Given the description of an element on the screen output the (x, y) to click on. 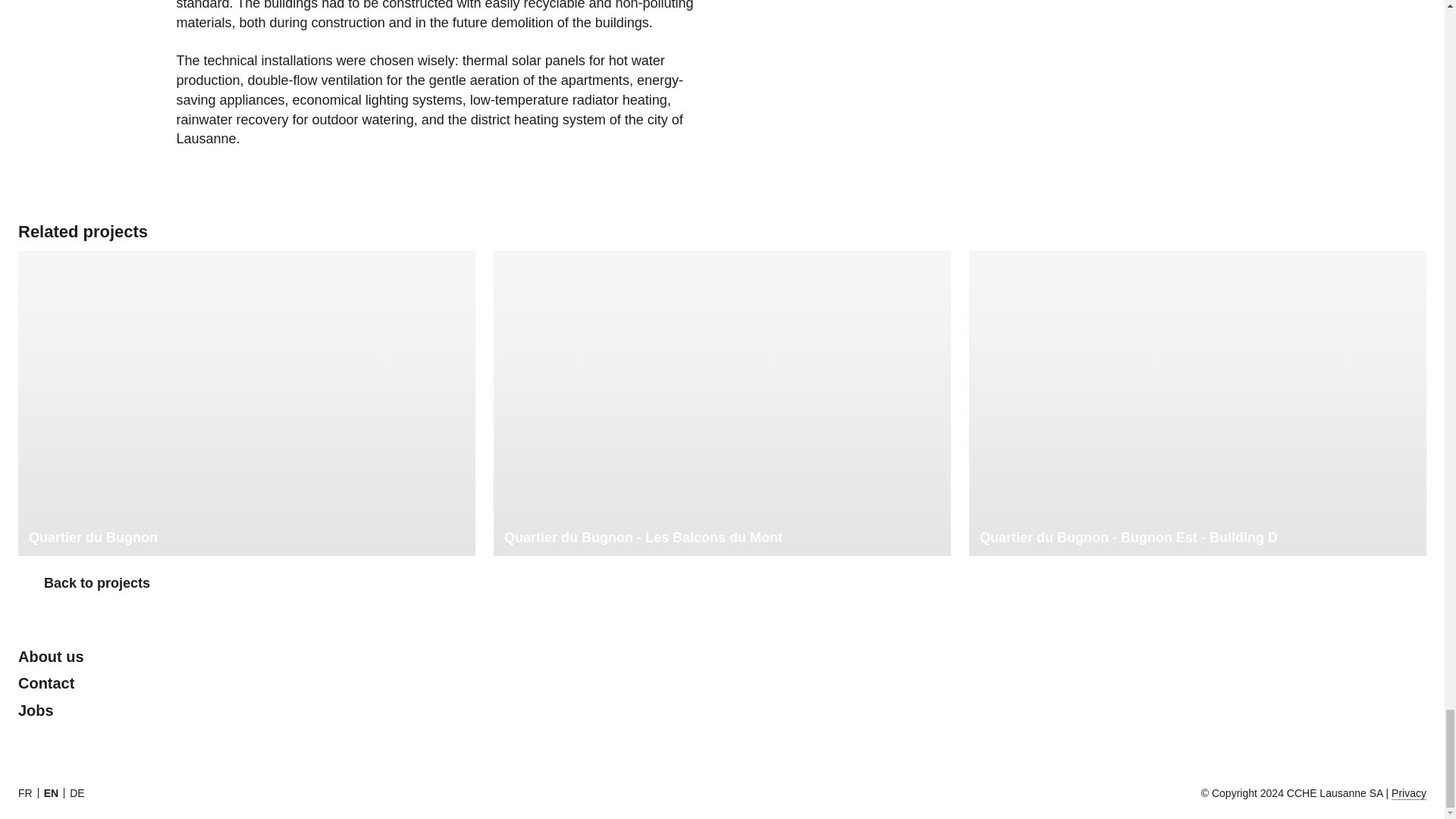
Privacy (1408, 793)
DE (76, 793)
Back to projects (83, 584)
Contact (45, 682)
Jobs (35, 710)
FR (24, 793)
EN (50, 793)
About us (50, 656)
